Given the description of an element on the screen output the (x, y) to click on. 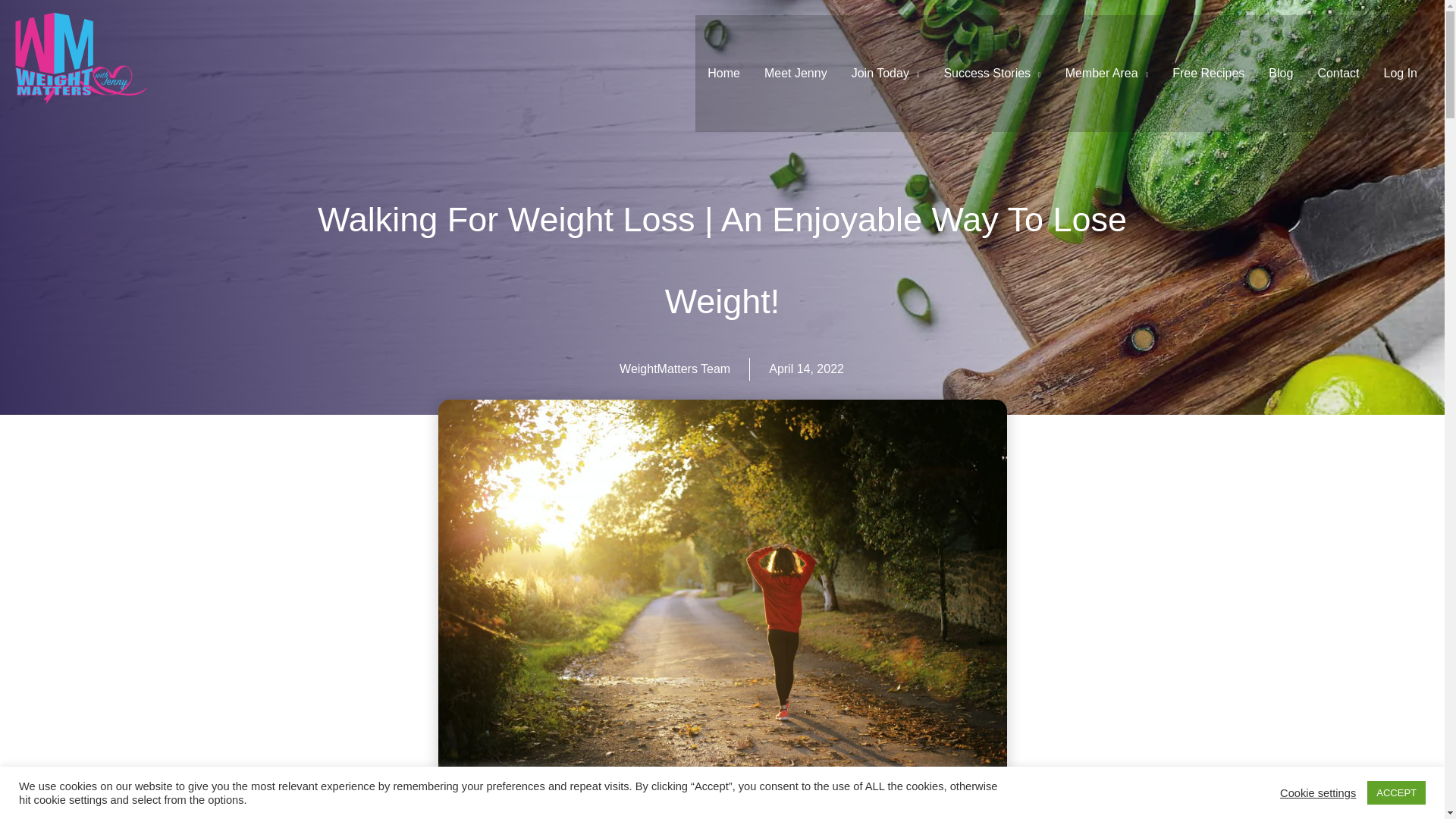
April 14, 2022 (806, 368)
Member Area (1106, 73)
Success Stories (991, 73)
WeightMatters Team (675, 368)
